Given the description of an element on the screen output the (x, y) to click on. 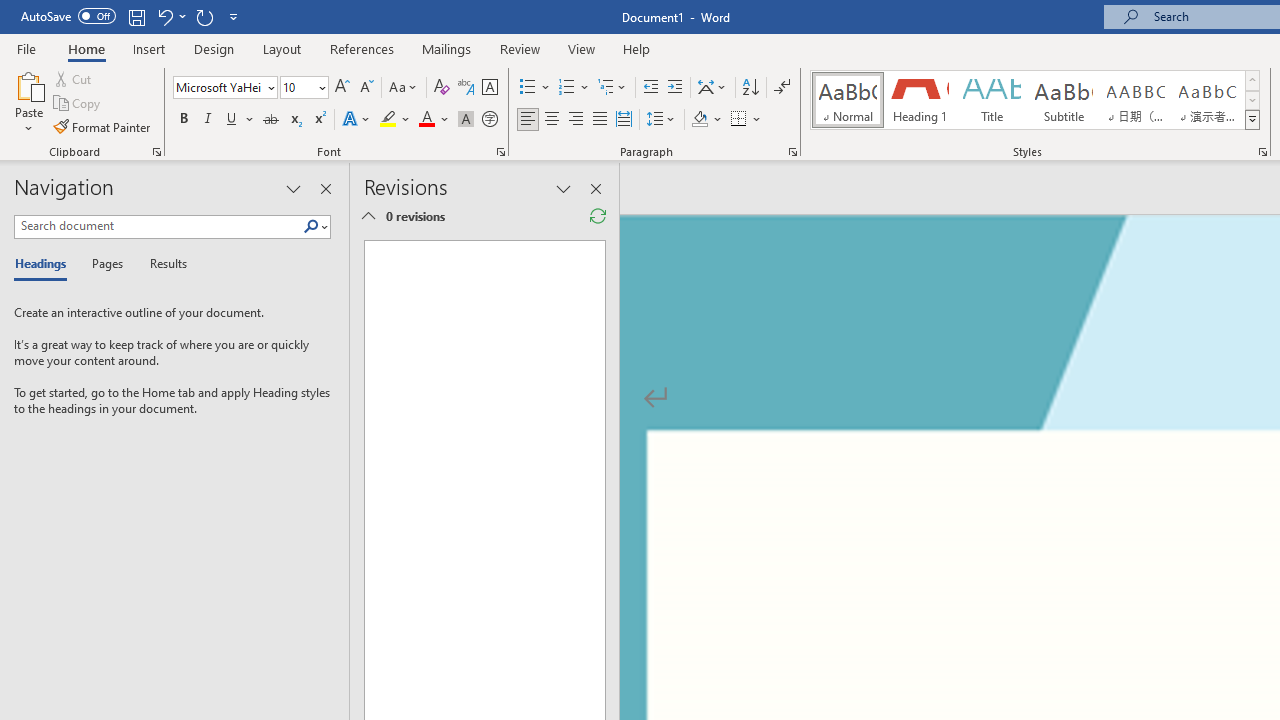
Undo Paragraph Alignment (164, 15)
Can't Repeat (204, 15)
